Given the description of an element on the screen output the (x, y) to click on. 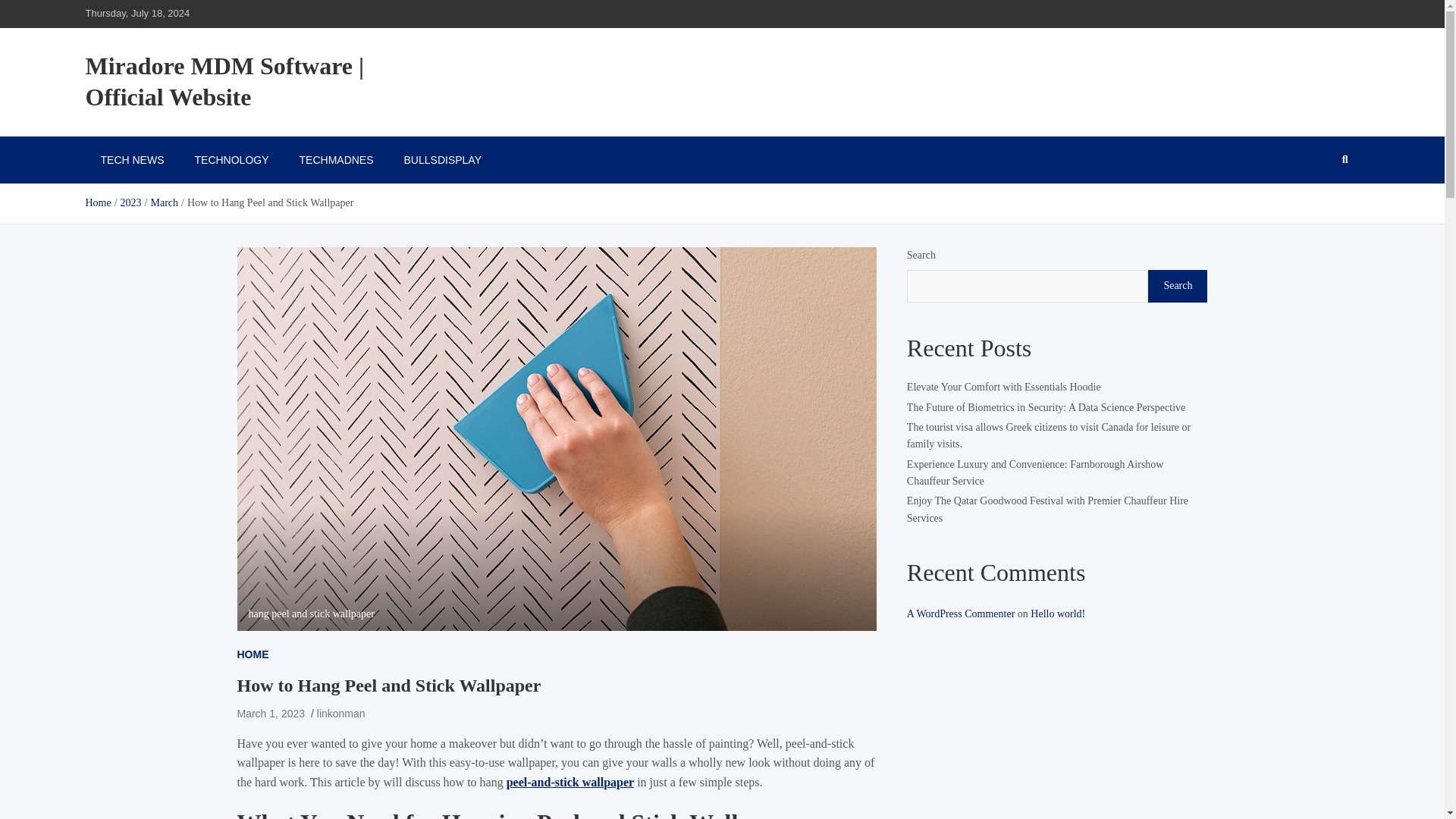
Home (97, 202)
March (163, 202)
Search (1177, 286)
linkonman (341, 713)
A WordPress Commenter (960, 613)
Elevate Your Comfort with Essentials Hoodie (1003, 387)
How to Hang Peel and Stick Wallpaper (269, 713)
TECHMADNES (335, 159)
2023 (130, 202)
TECHNOLOGY (231, 159)
March 1, 2023 (269, 713)
